Given the description of an element on the screen output the (x, y) to click on. 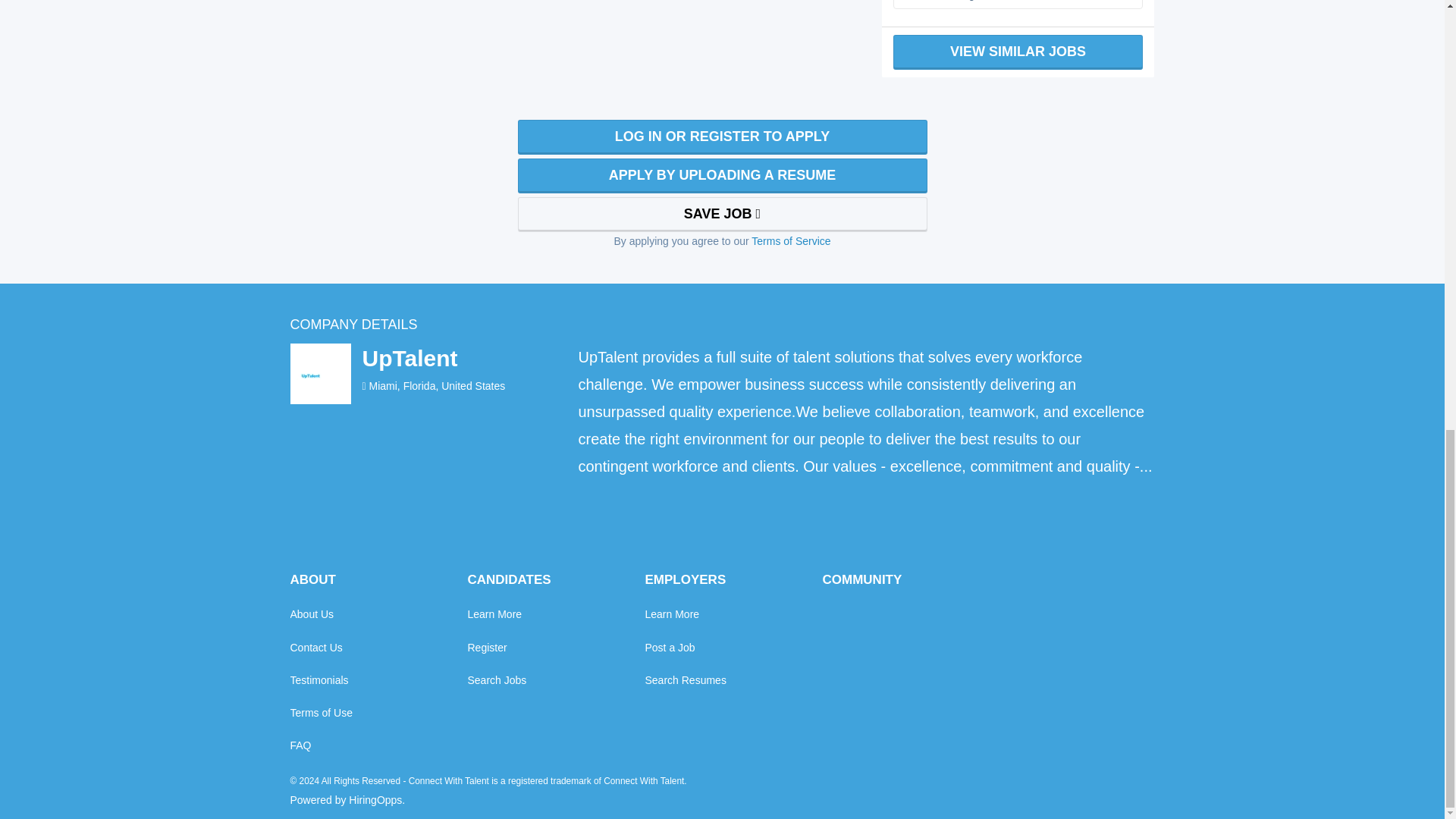
Learn More (494, 613)
Register (486, 647)
SAVE JOB (721, 214)
Testimonials (318, 680)
UpTalent (409, 358)
LOG IN OR REGISTER TO APPLY (721, 136)
Search Jobs (496, 680)
Terms of Service (790, 241)
Contact Us (315, 647)
APPLY BY UPLOADING A RESUME (721, 175)
